Given the description of an element on the screen output the (x, y) to click on. 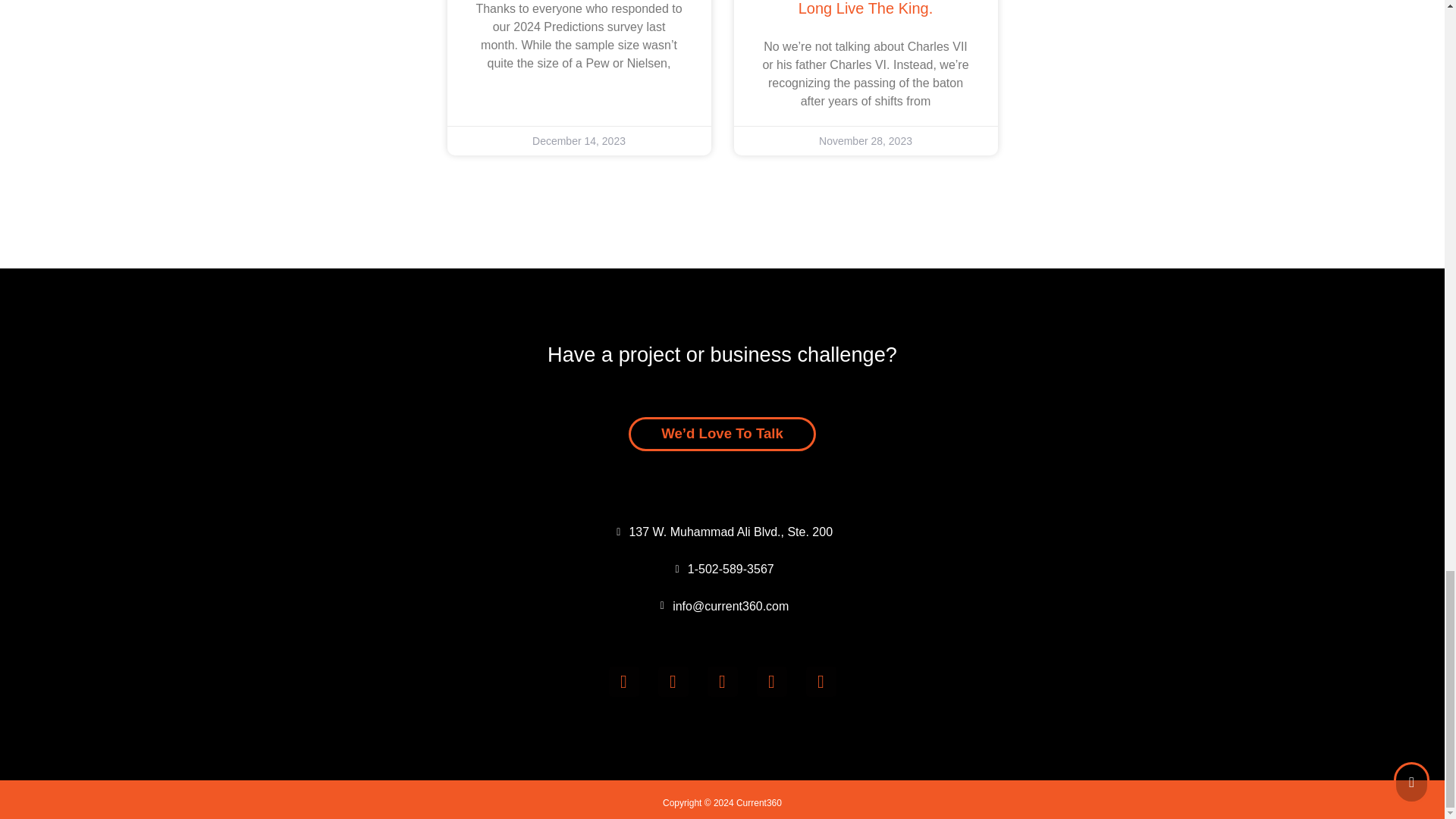
Facebook (673, 681)
Youtube (623, 681)
1-502-589-3567 (865, 8)
